Given the description of an element on the screen output the (x, y) to click on. 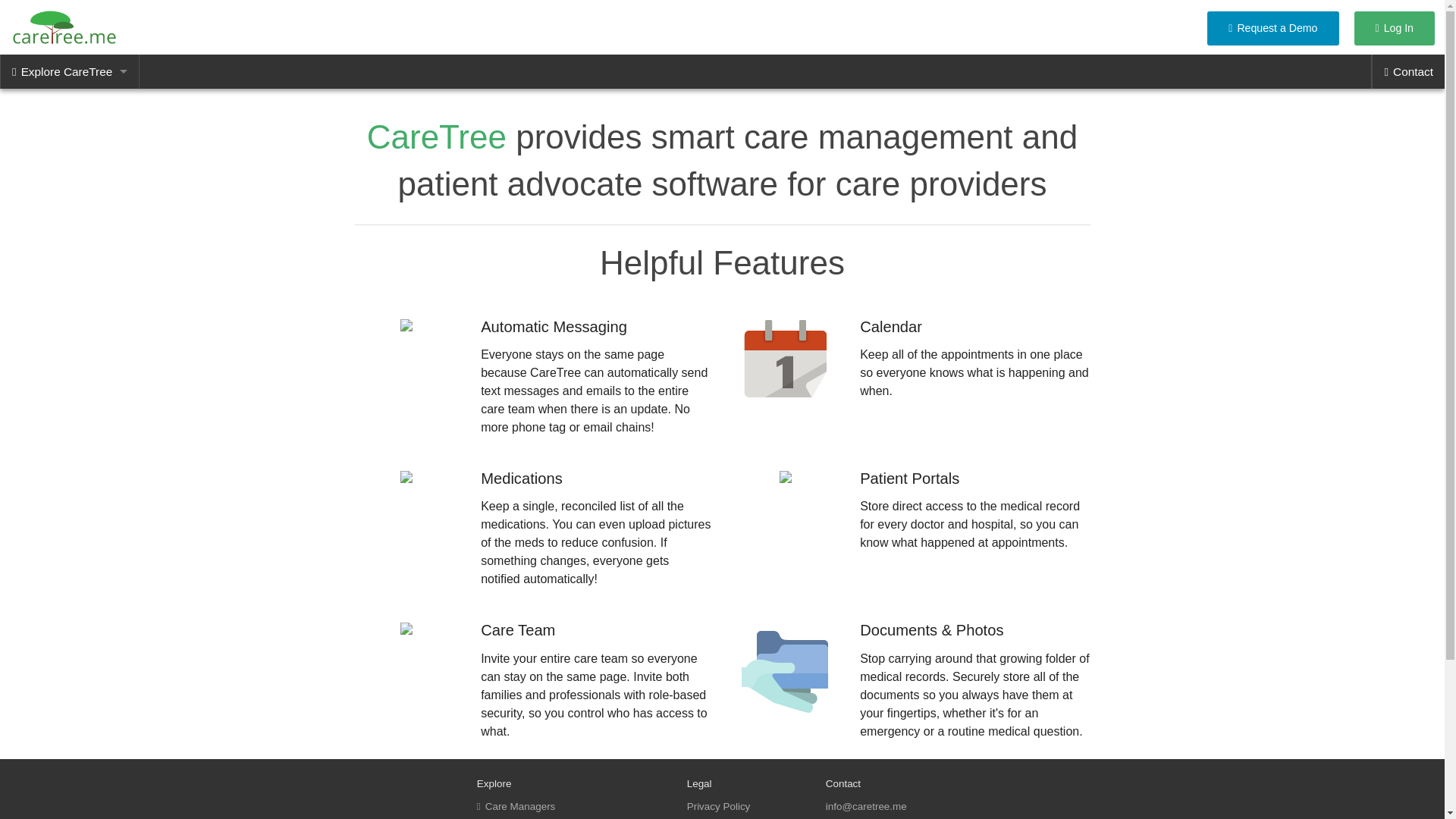
Increase Revenue (69, 207)
Care Managers (516, 806)
Privacy Policy (719, 806)
Request a Demo (1272, 28)
Care Managers (69, 105)
Explore CareTree (69, 71)
Family Portal (69, 139)
Family Portal (510, 818)
Log In (1394, 28)
